Given the description of an element on the screen output the (x, y) to click on. 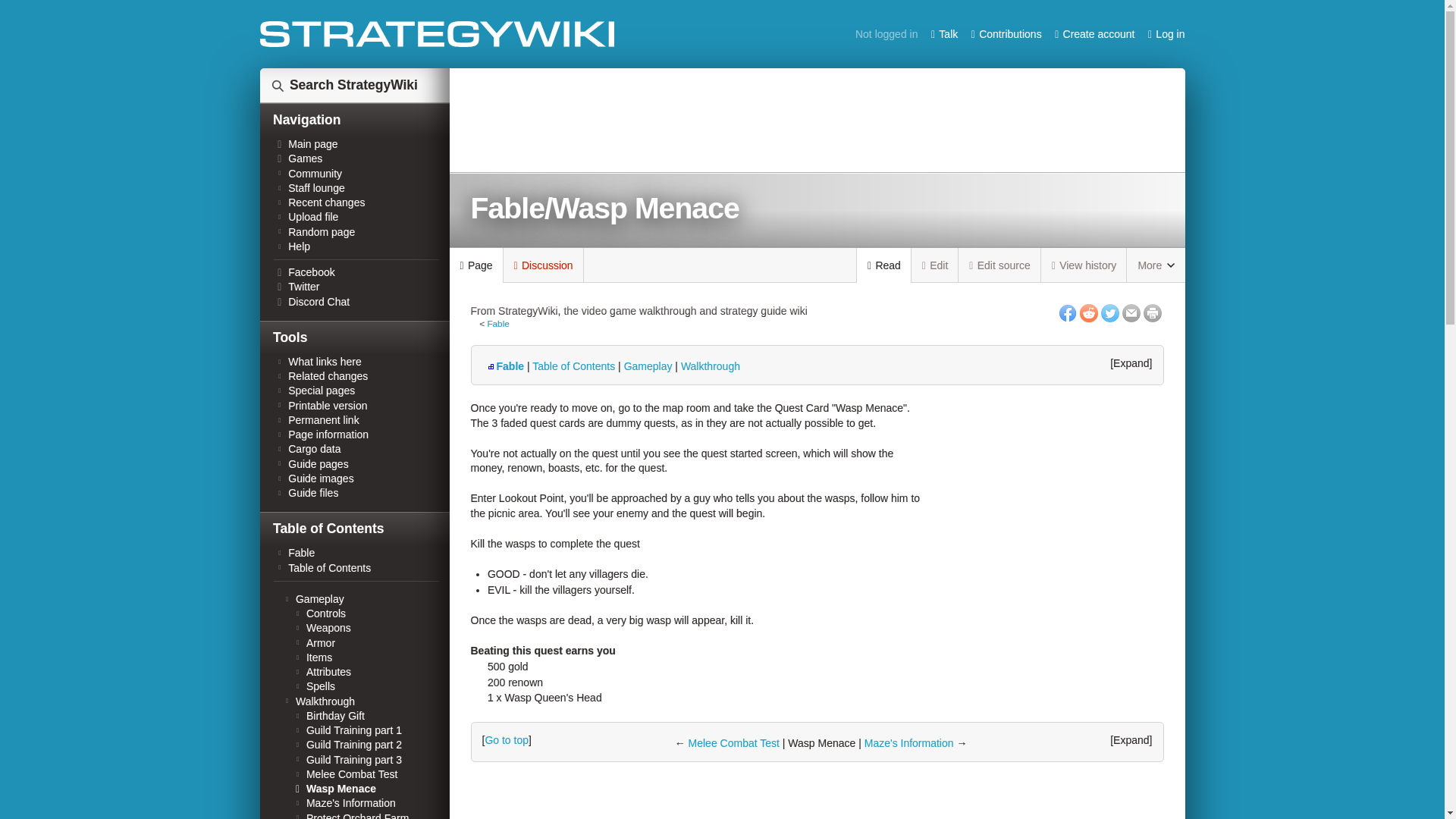
Page (475, 265)
Fable (505, 366)
Read (884, 265)
Print this page (1151, 312)
E-mail this page (1131, 312)
Share on Facebook (1067, 312)
Edit source (999, 264)
Table of Contents (573, 366)
Share on twitter.com (1109, 312)
Share on reddit.com (1088, 312)
Fable (497, 323)
More options (1155, 265)
Discussion (543, 264)
Walkthrough (710, 366)
